Given the description of an element on the screen output the (x, y) to click on. 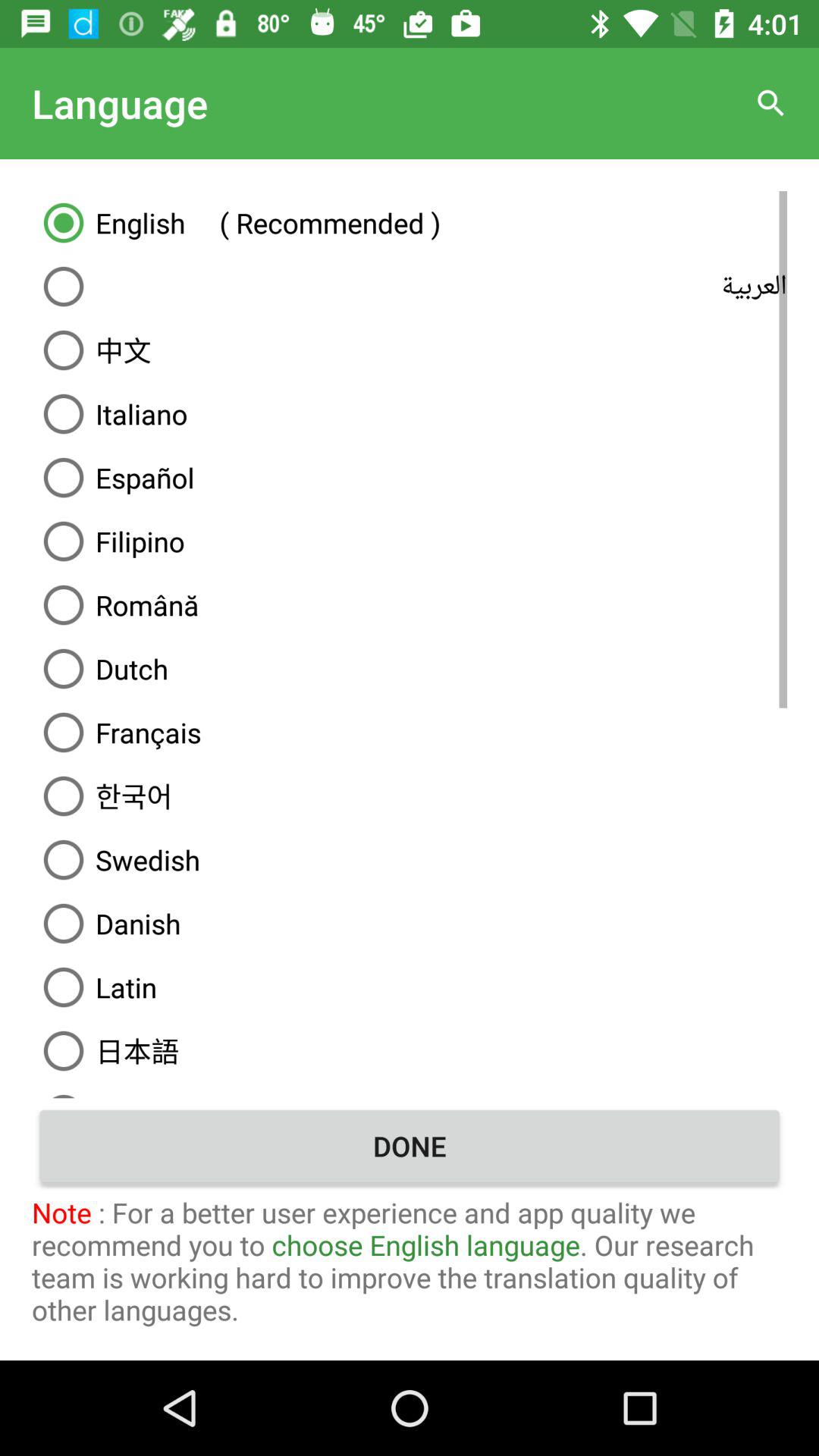
turn off the icon below english     ( recommended ) icon (409, 286)
